Given the description of an element on the screen output the (x, y) to click on. 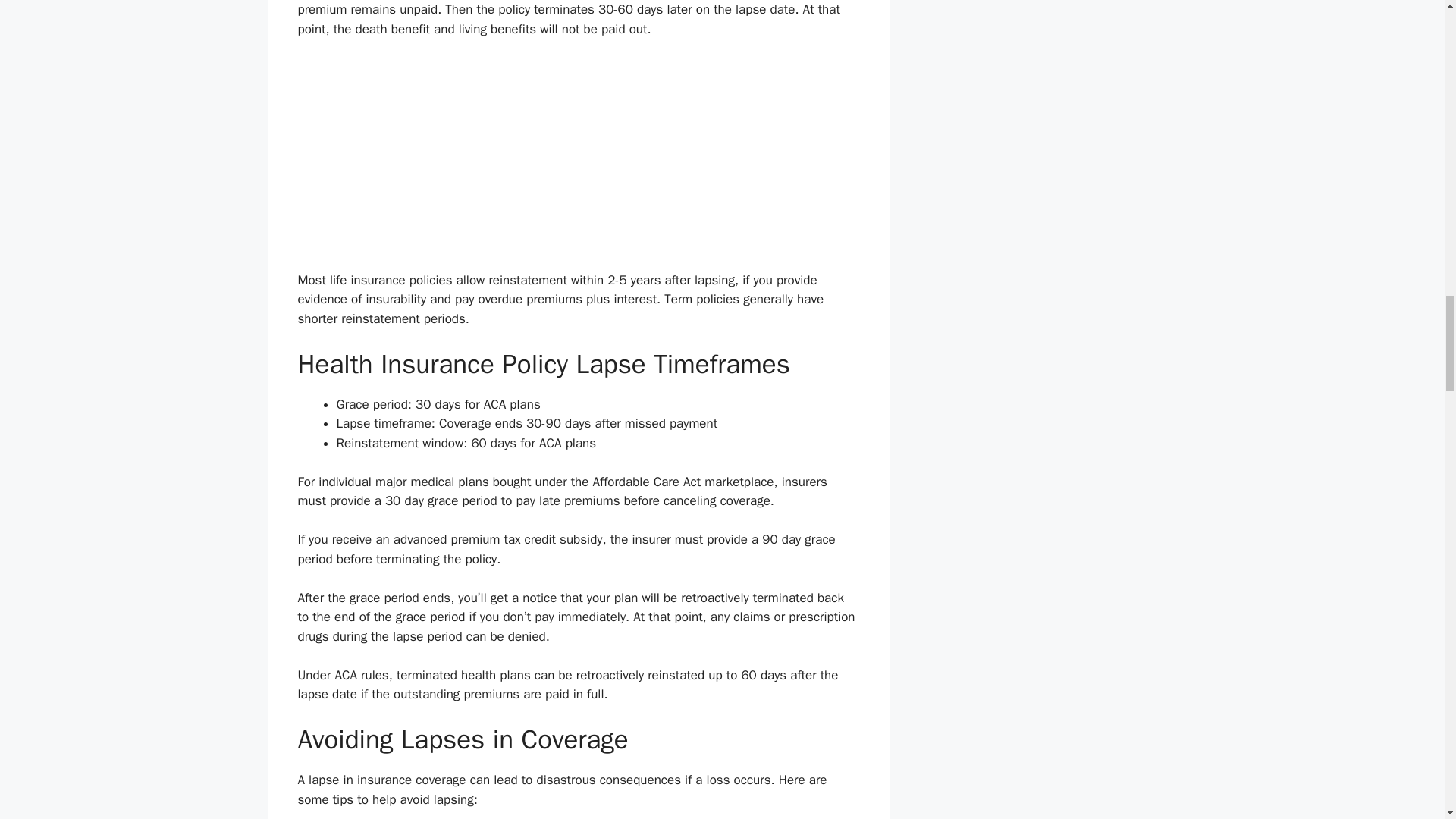
Advertisement (578, 164)
